Given the description of an element on the screen output the (x, y) to click on. 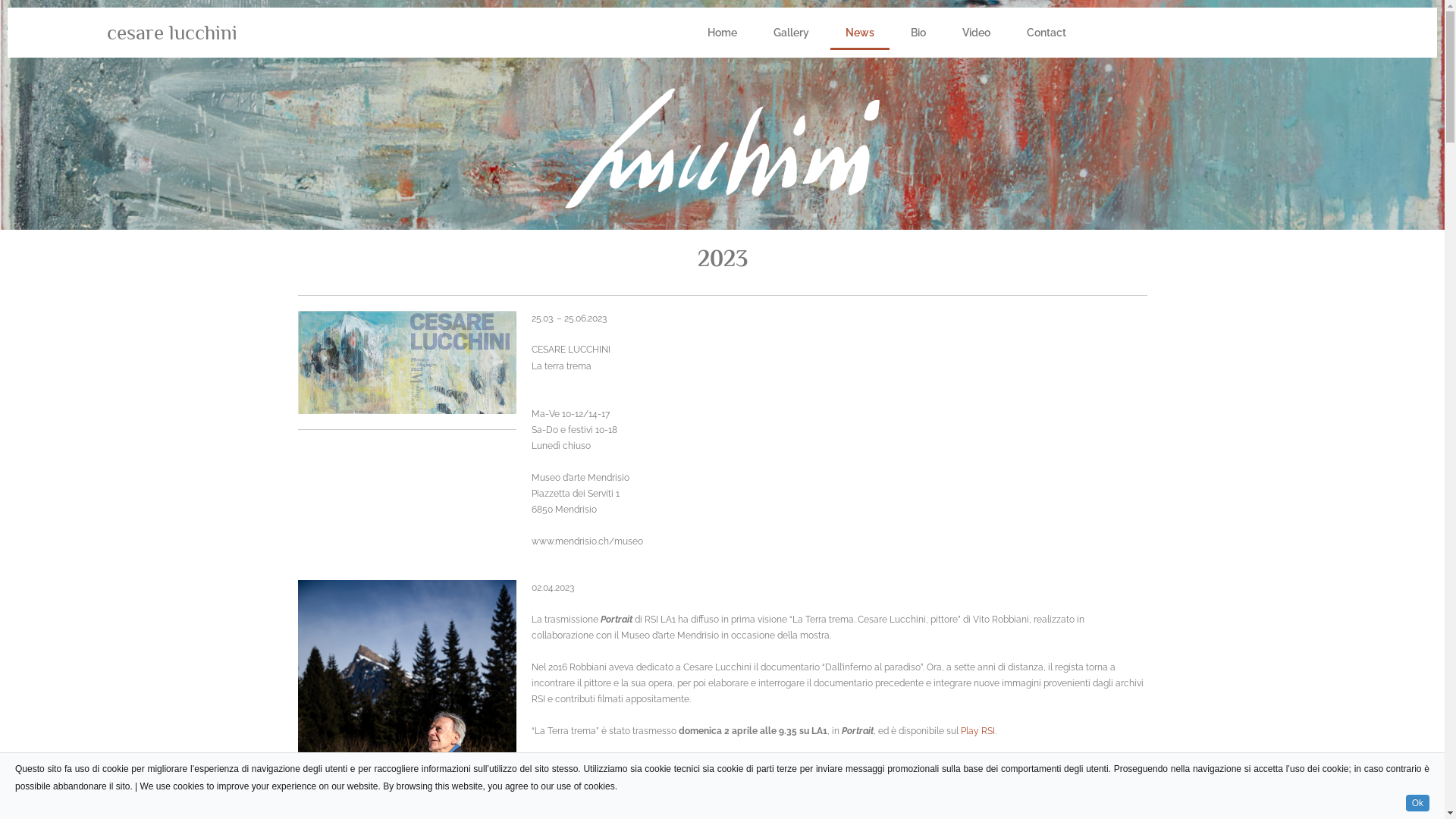
Play RSI Element type: text (977, 730)
Bio Element type: text (918, 32)
Home Element type: text (722, 32)
Gallery Element type: text (791, 32)
Video Element type: text (976, 32)
Ok Element type: text (1417, 802)
News Element type: text (859, 32)
Contact Element type: text (1046, 32)
